Given the description of an element on the screen output the (x, y) to click on. 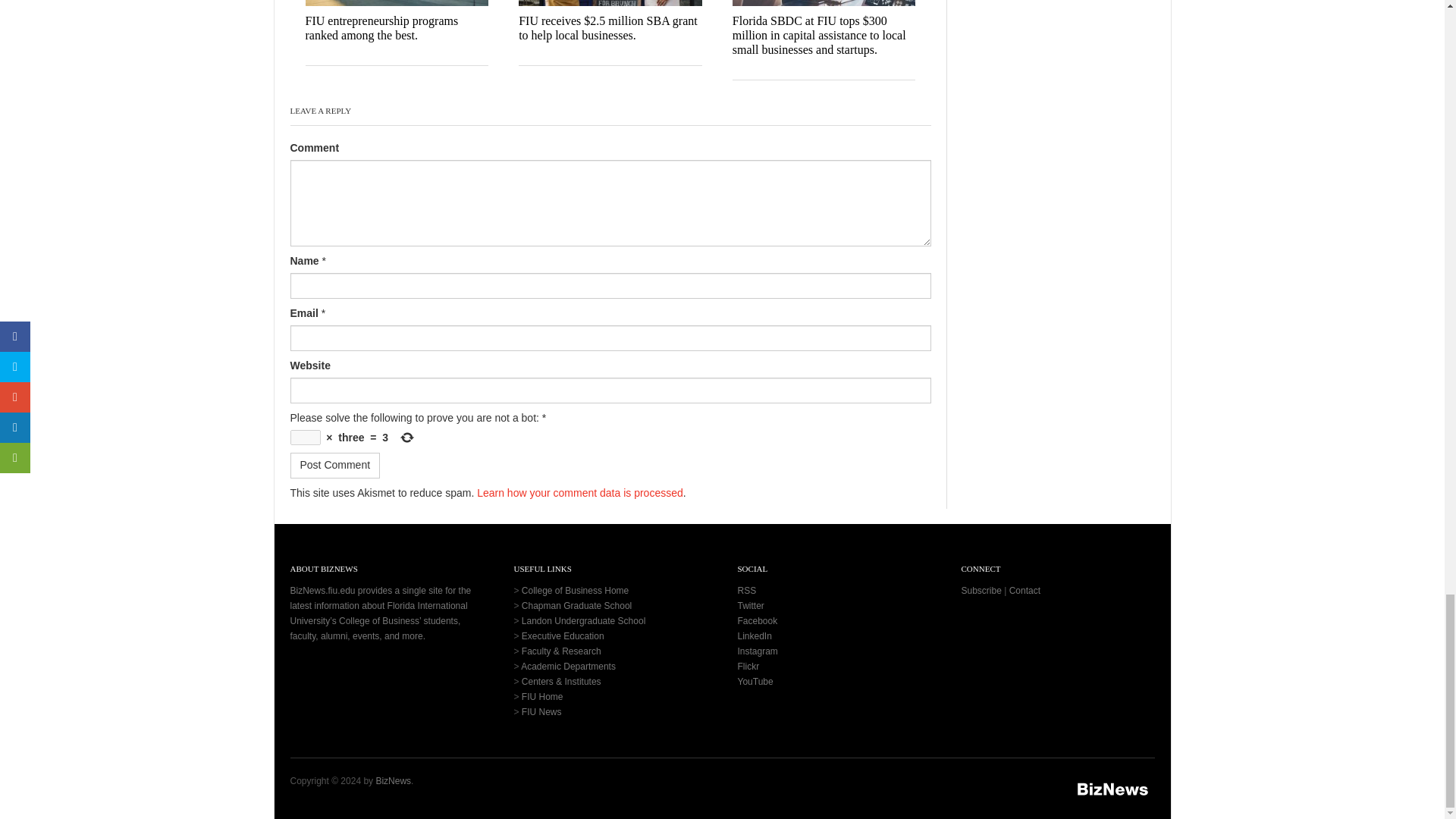
BizNews (1113, 788)
Post Comment (334, 465)
